Given the description of an element on the screen output the (x, y) to click on. 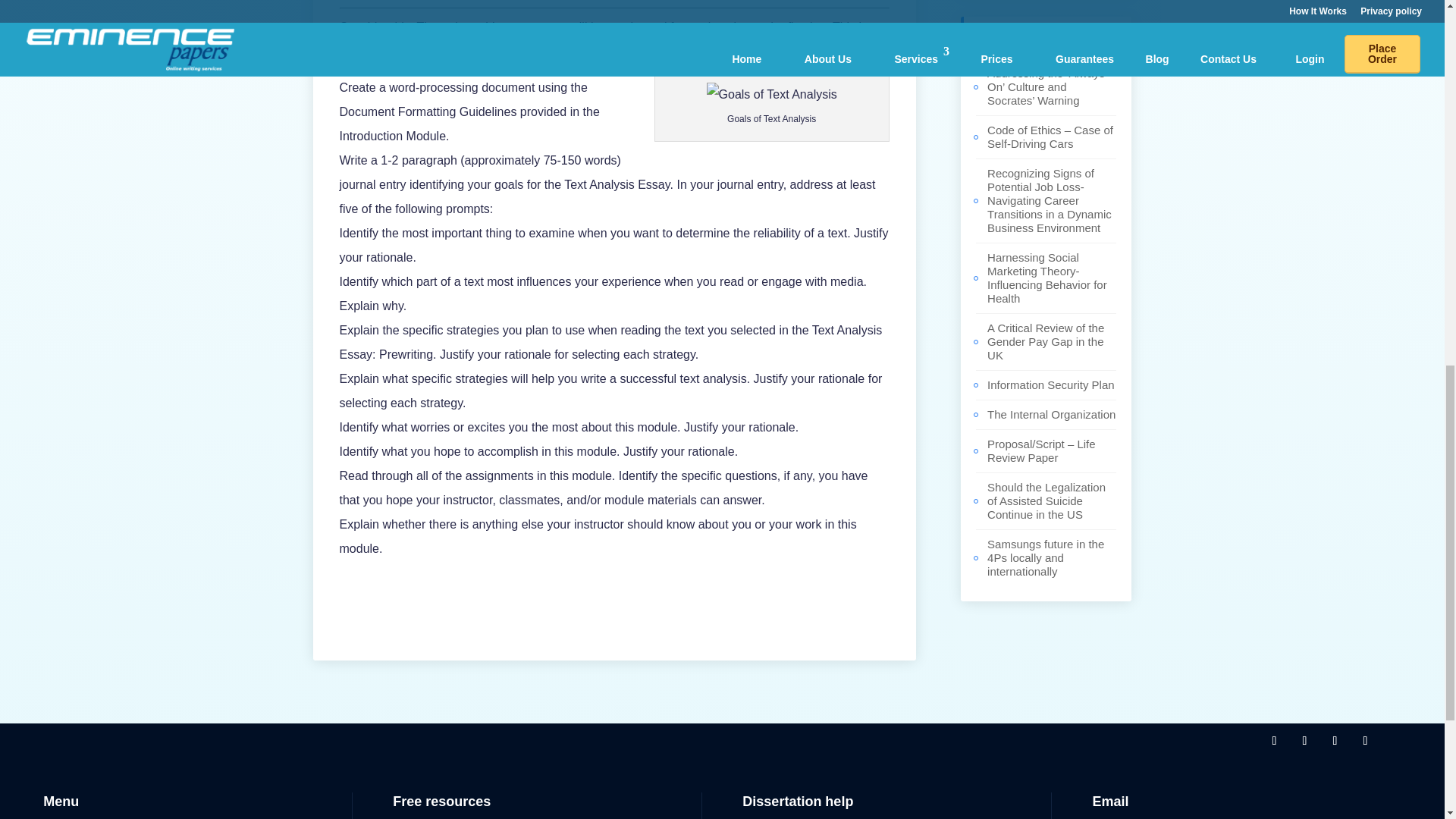
Information Security Plan (1051, 384)
Follow on LinkedIn (1364, 740)
A Critical Review of the Gender Pay Gap in the UK (1045, 341)
The Internal Organization (1051, 413)
Follow on X (1304, 740)
Follow on google-plus (1334, 740)
Follow on Facebook (1273, 740)
